Given the description of an element on the screen output the (x, y) to click on. 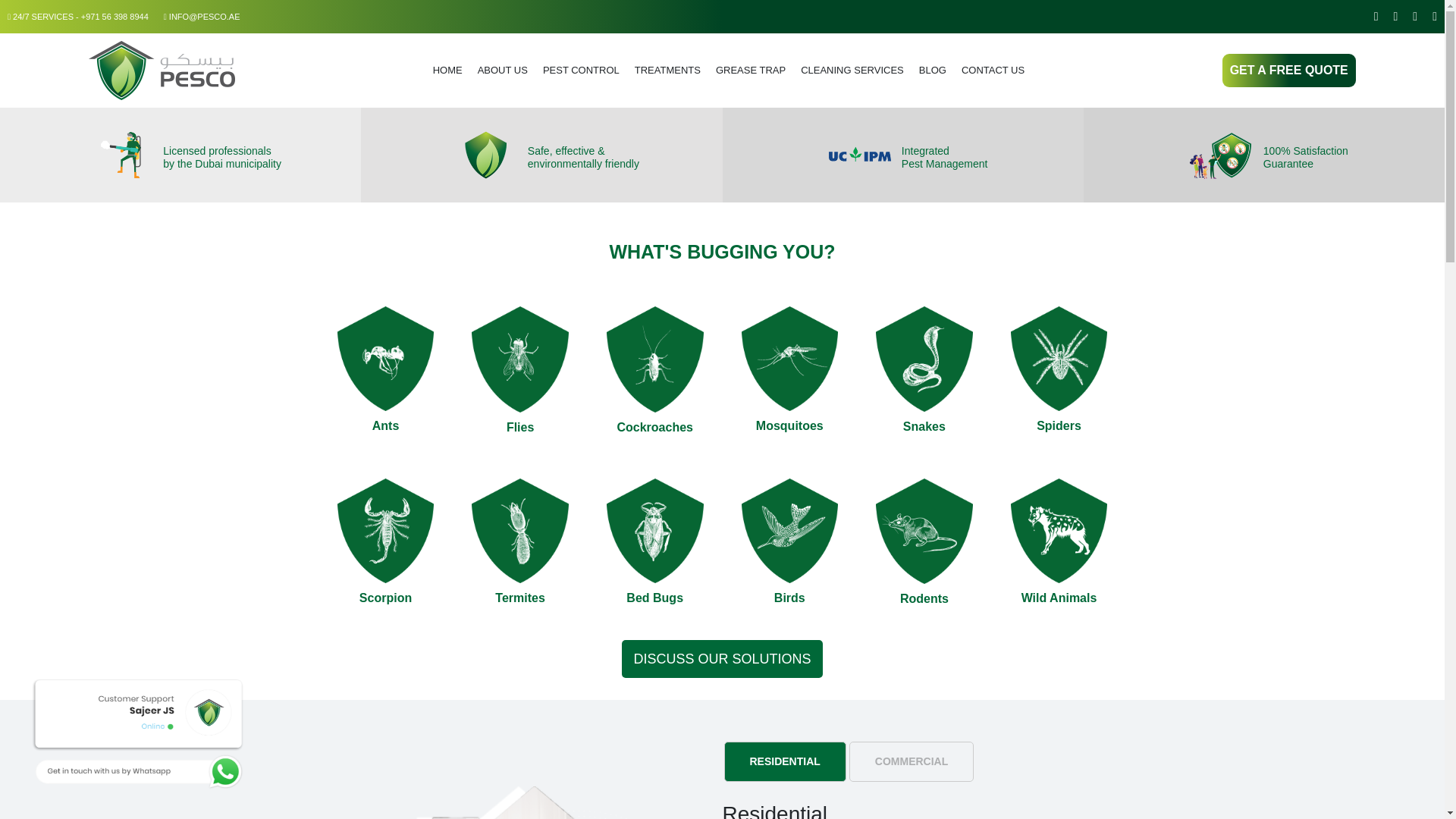
ABOUT US (502, 70)
Flies (520, 393)
Snakes (924, 393)
Mosquitoes (789, 392)
BLOG (932, 70)
Ants (385, 392)
CLEANING SERVICES (852, 70)
GET A FREE QUOTE (1289, 70)
TREATMENTS (667, 70)
PEST CONTROL (581, 70)
HOME (447, 70)
Cockroaches (655, 393)
CONTACT US (992, 70)
GREASE TRAP (750, 70)
